Given the description of an element on the screen output the (x, y) to click on. 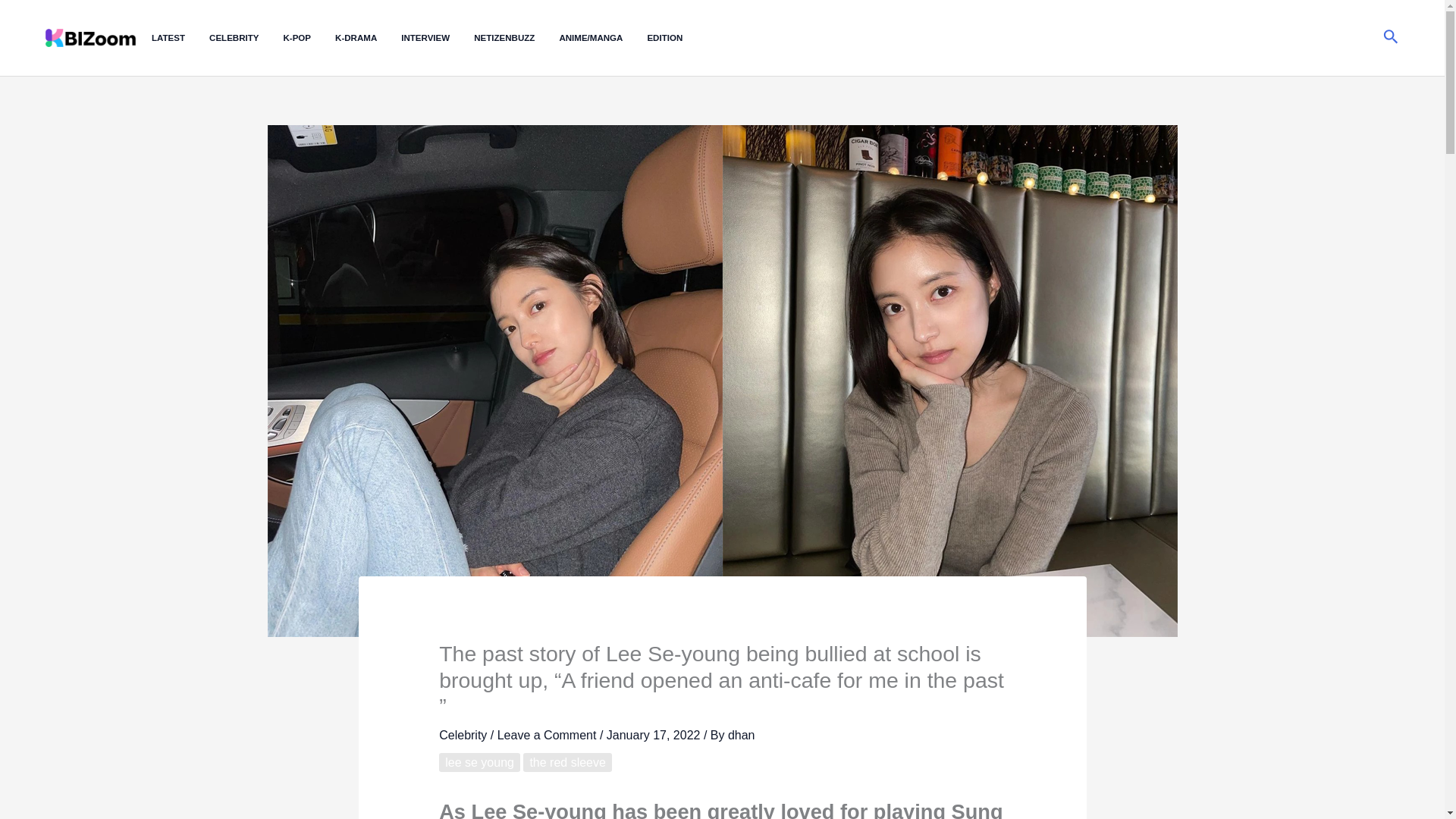
Leave a Comment (546, 735)
CELEBRITY (245, 38)
View all posts by dhan (741, 735)
lee se young (479, 762)
Celebrity (462, 735)
the red sleeve (566, 762)
INTERVIEW (437, 38)
NETIZENBUZZ (516, 38)
dhan (741, 735)
